Given the description of an element on the screen output the (x, y) to click on. 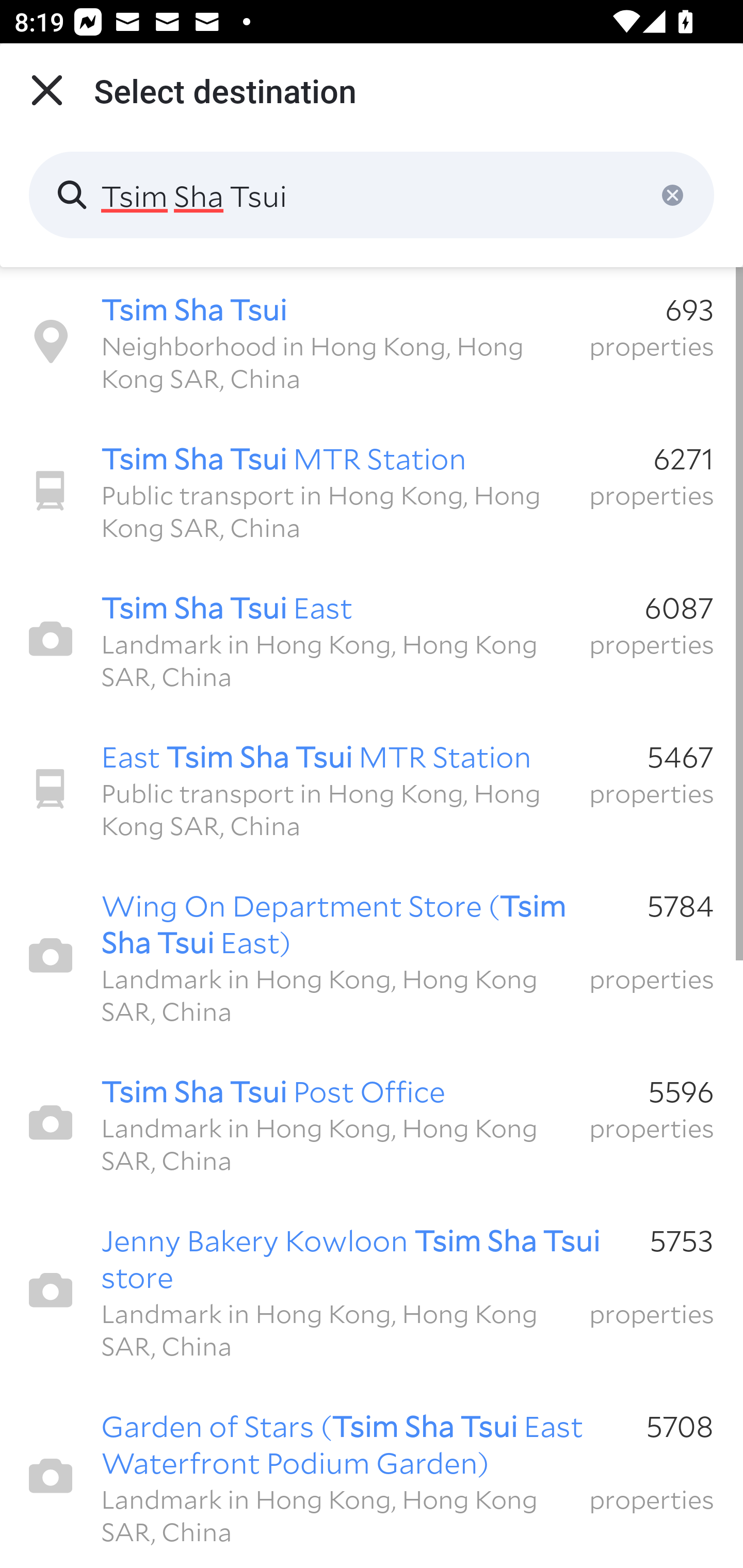
Tsim Sha Tsui (371, 195)
